Given the description of an element on the screen output the (x, y) to click on. 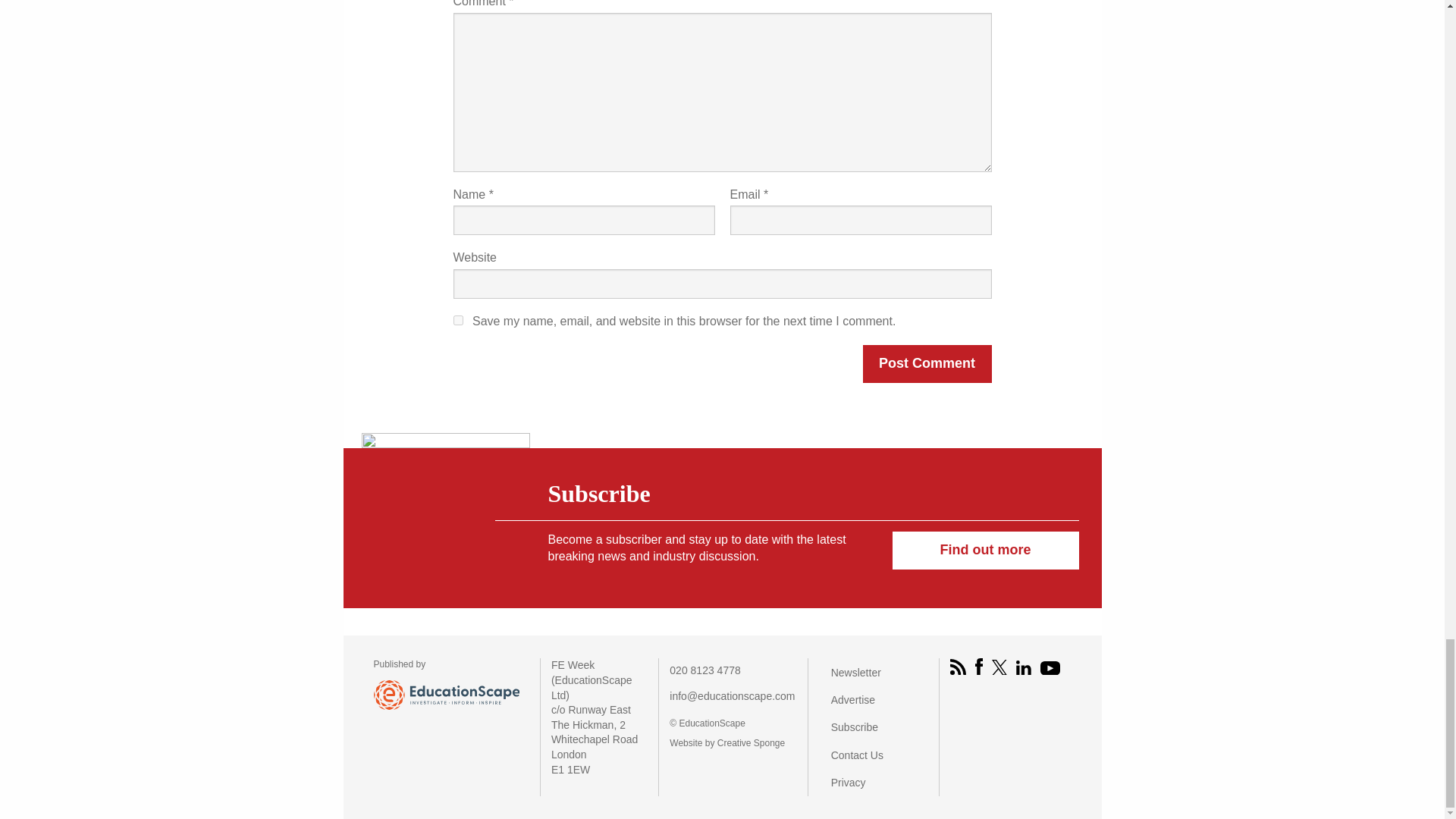
Post Comment (927, 364)
yes (457, 320)
